Given the description of an element on the screen output the (x, y) to click on. 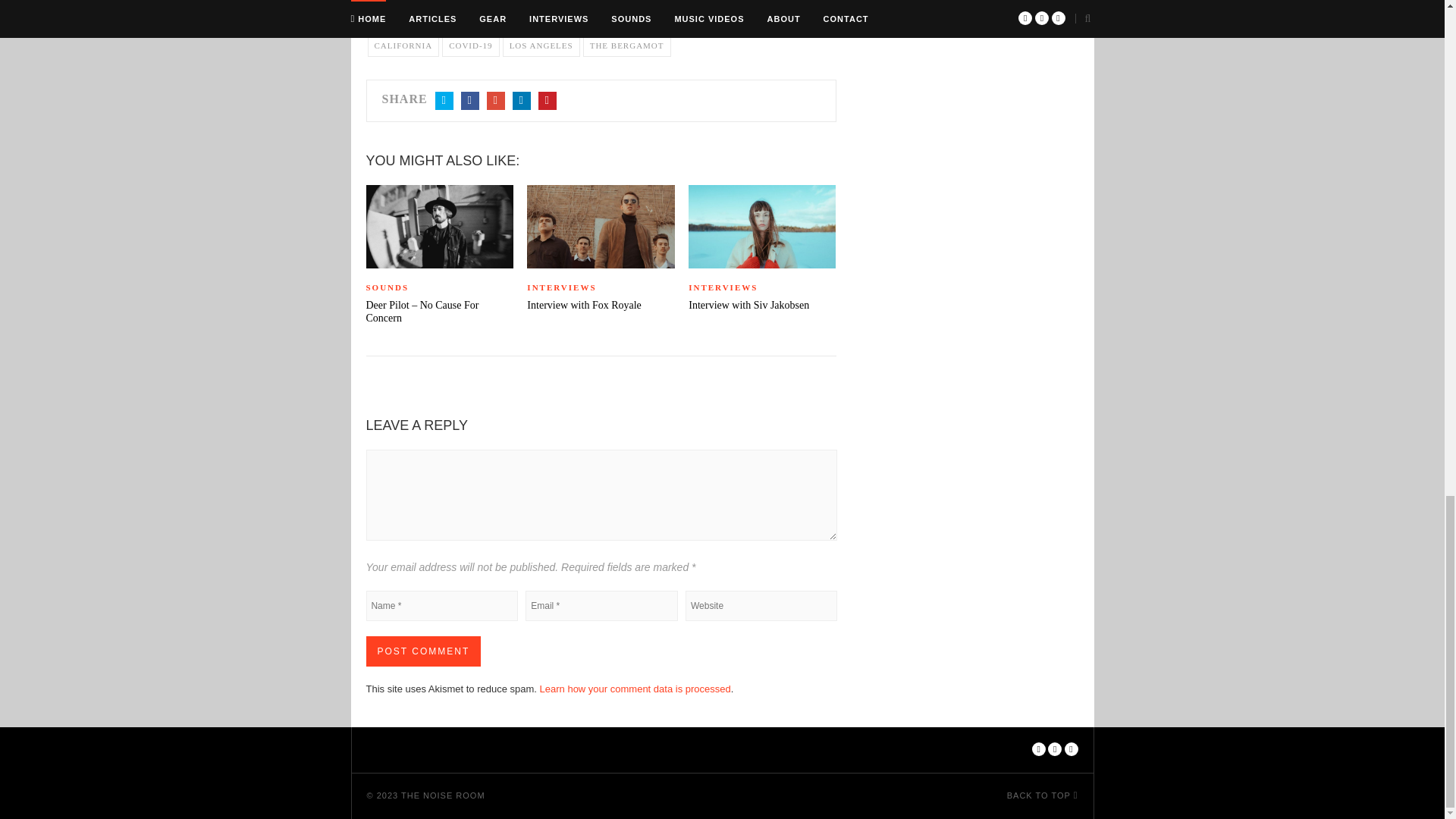
SOUNDS (438, 287)
TWITTER (443, 100)
Post Comment (422, 651)
PINTEREST (547, 100)
COVID-19 (470, 46)
FACEBOOK (470, 100)
LOS ANGELES (540, 46)
LINKEDIN (521, 100)
THE BERGAMOT (627, 46)
CALIFORNIA (402, 46)
